Given the description of an element on the screen output the (x, y) to click on. 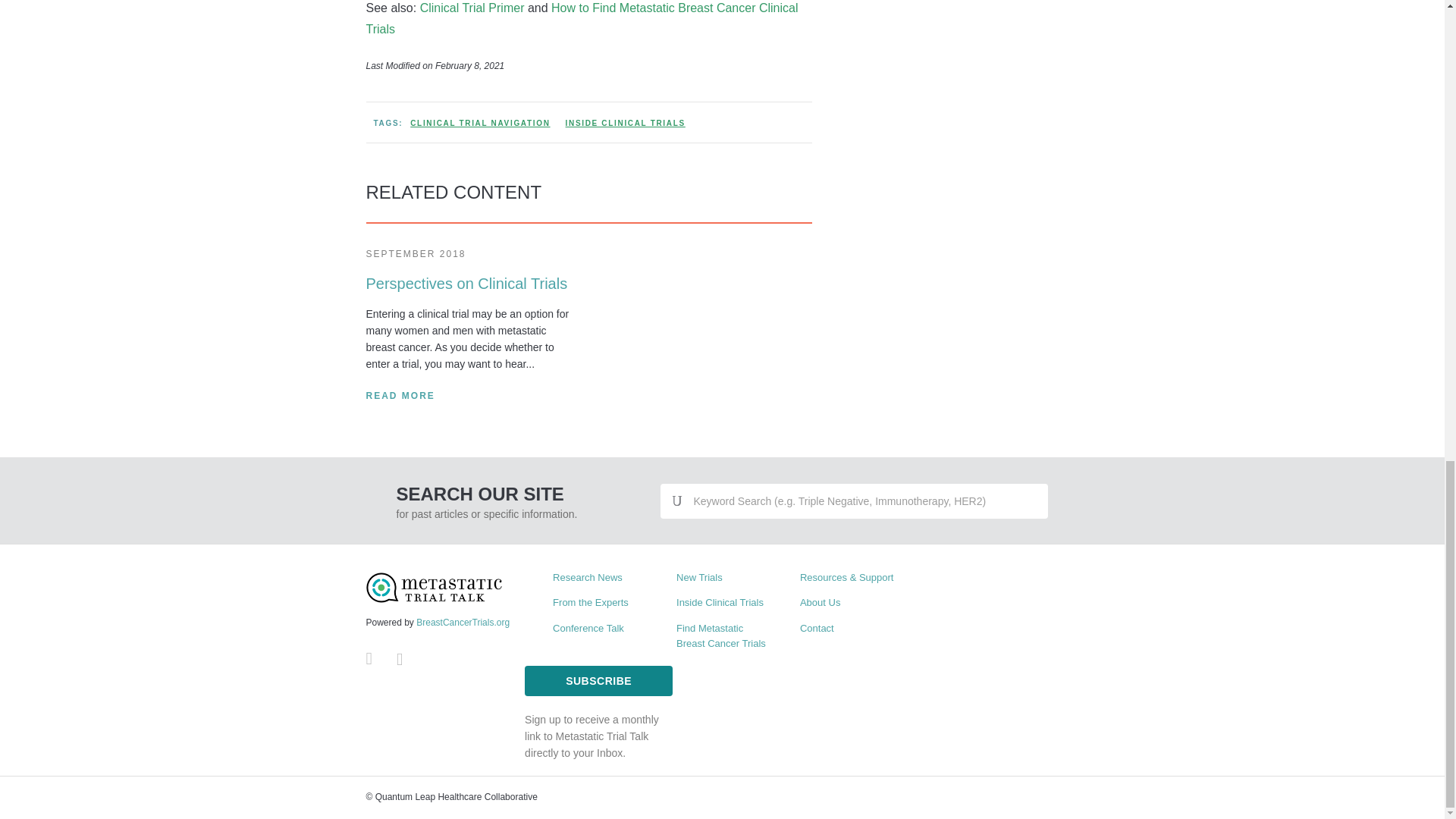
CLINICAL TRIAL NAVIGATION (480, 123)
Clinical Trial Primer (473, 7)
INSIDE CLINICAL TRIALS (625, 123)
READ MORE (399, 395)
Perspectives on Clinical Trials (466, 283)
How to Find Metastatic Breast Cancer Clinical Trials (581, 18)
